Given the description of an element on the screen output the (x, y) to click on. 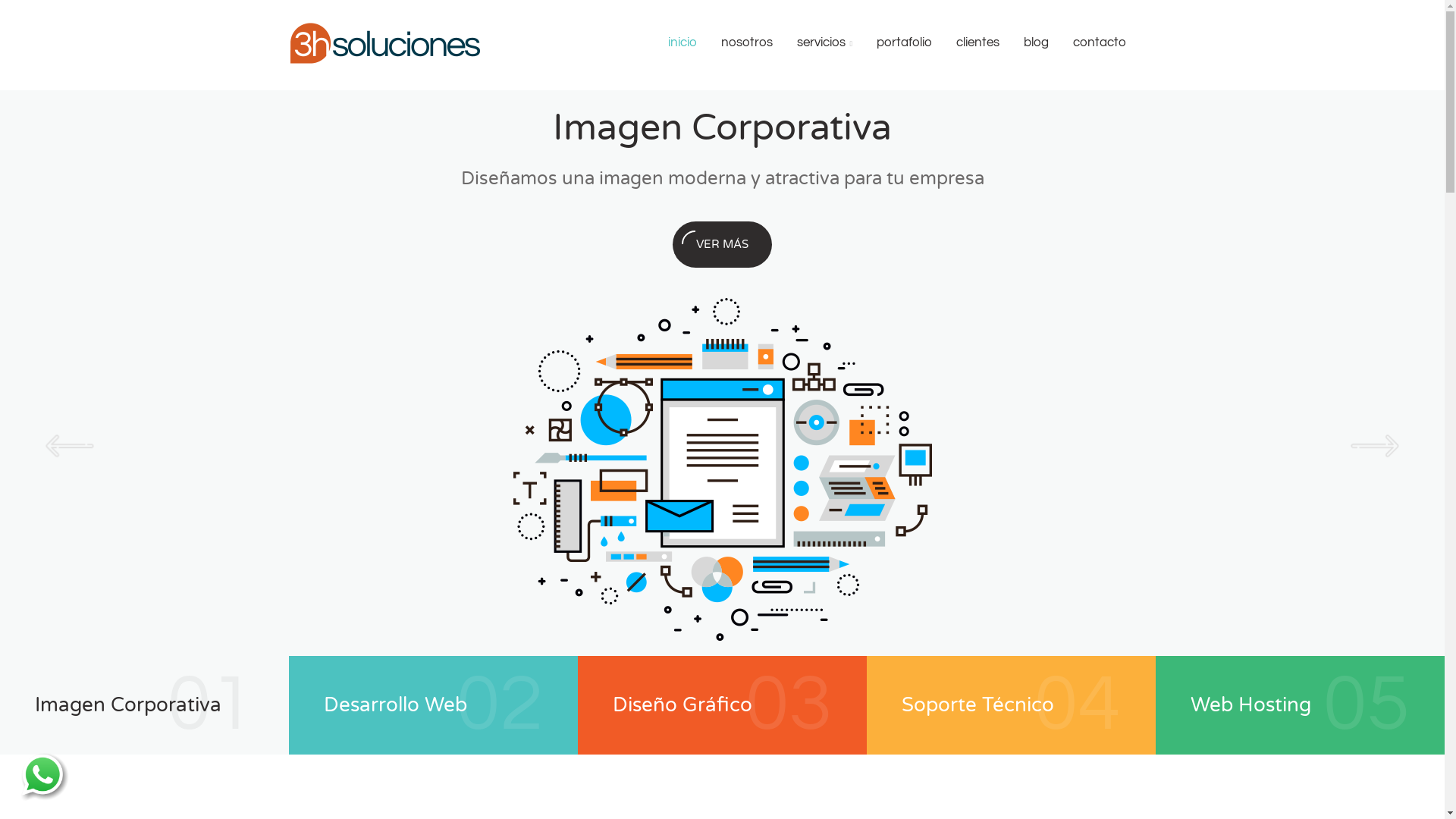
portafolio Element type: text (903, 42)
Imagen Corporativa
01 Element type: text (144, 704)
contacto Element type: text (1099, 42)
clientes Element type: text (977, 42)
blog Element type: text (1035, 42)
nosotros Element type: text (745, 42)
Desarrollo Web
02 Element type: text (432, 704)
inicio Element type: text (681, 42)
Web Hosting
05 Element type: text (1299, 704)
